Given the description of an element on the screen output the (x, y) to click on. 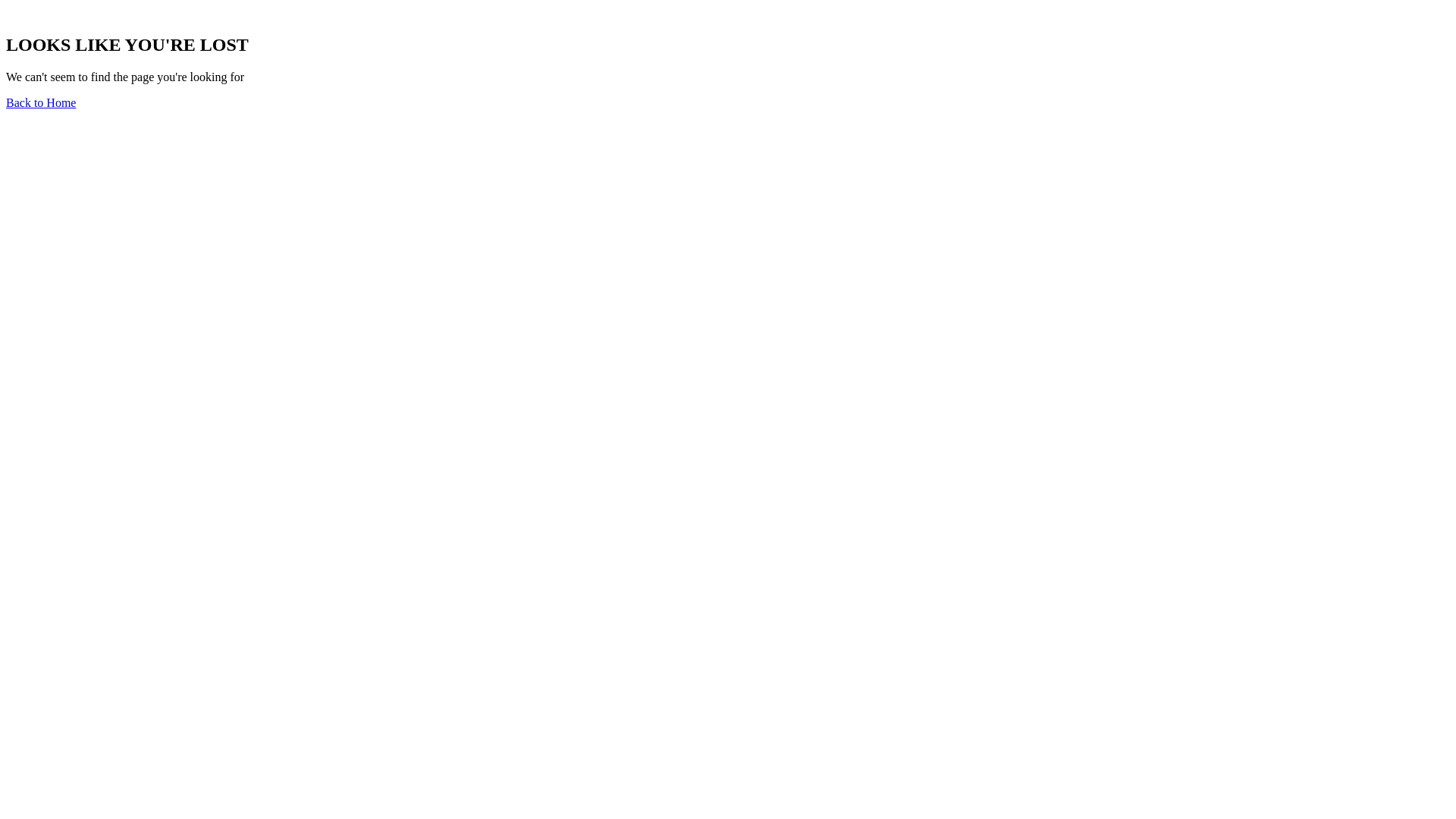
Back to Home Element type: text (40, 102)
